Given the description of an element on the screen output the (x, y) to click on. 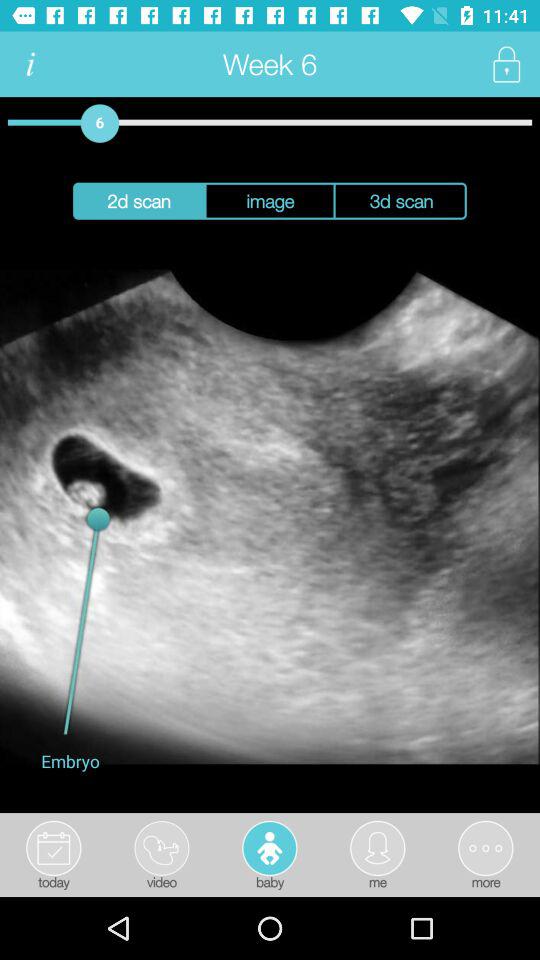
information button (30, 63)
